Given the description of an element on the screen output the (x, y) to click on. 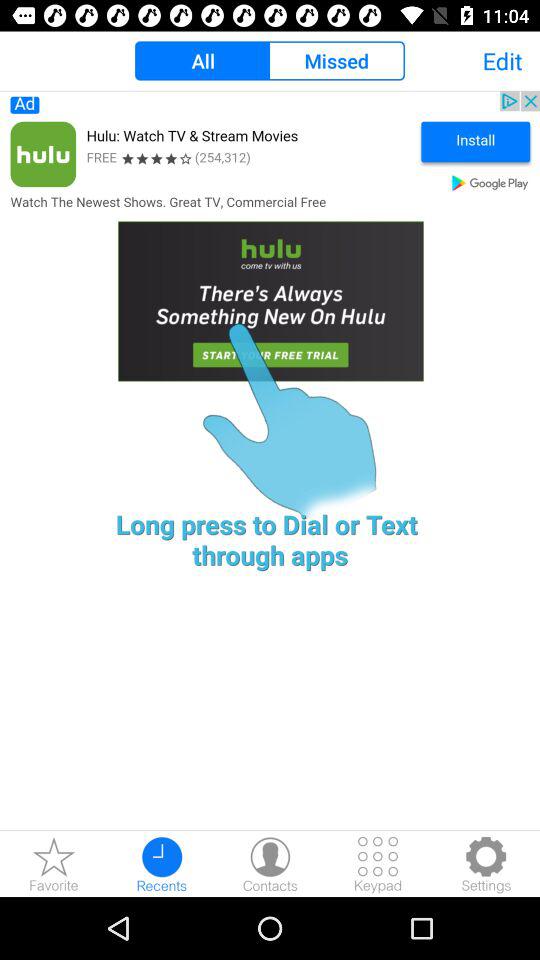
contact button (269, 864)
